Given the description of an element on the screen output the (x, y) to click on. 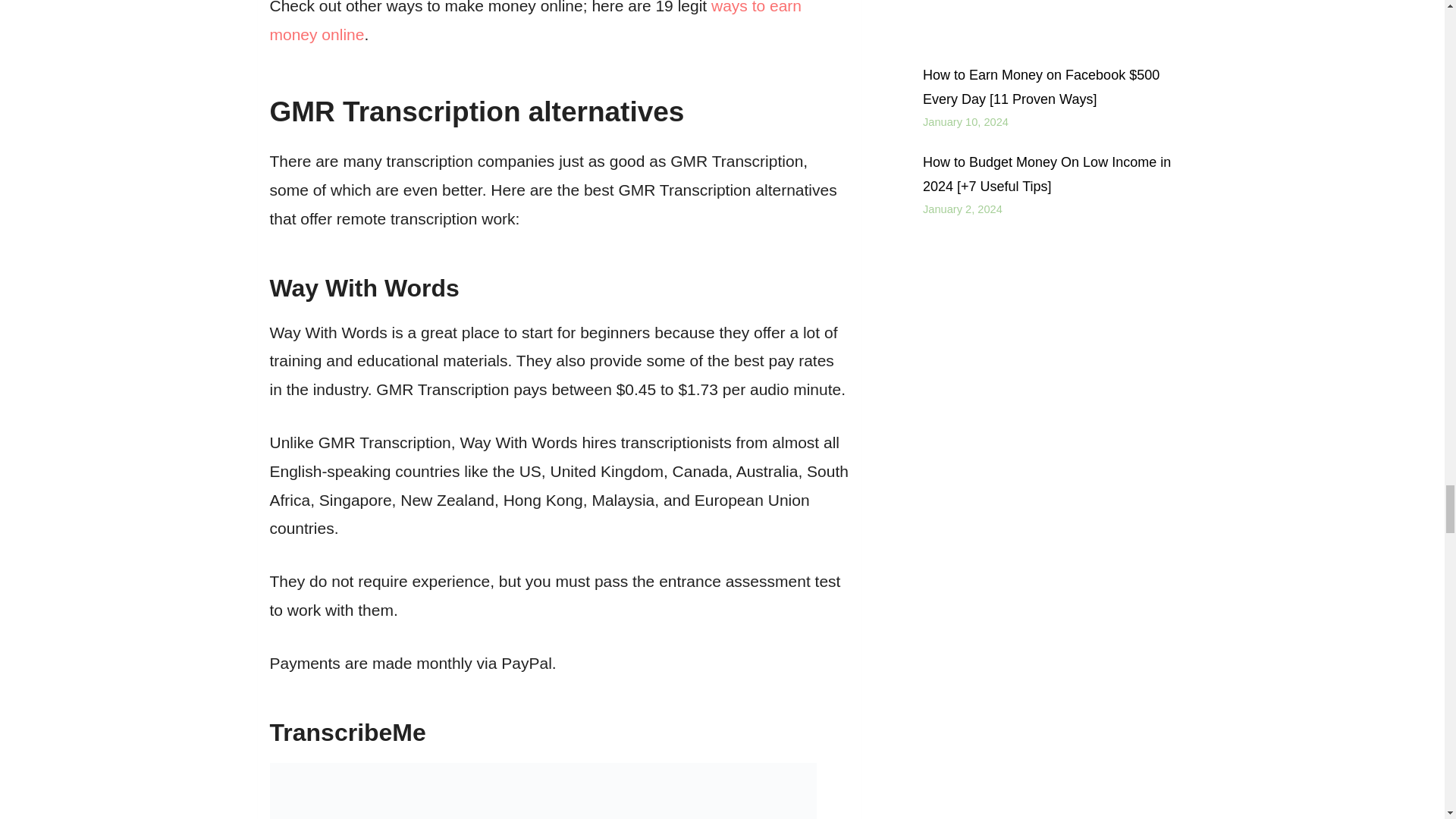
TranscribeMe (347, 732)
ways to earn money online (535, 21)
